Given the description of an element on the screen output the (x, y) to click on. 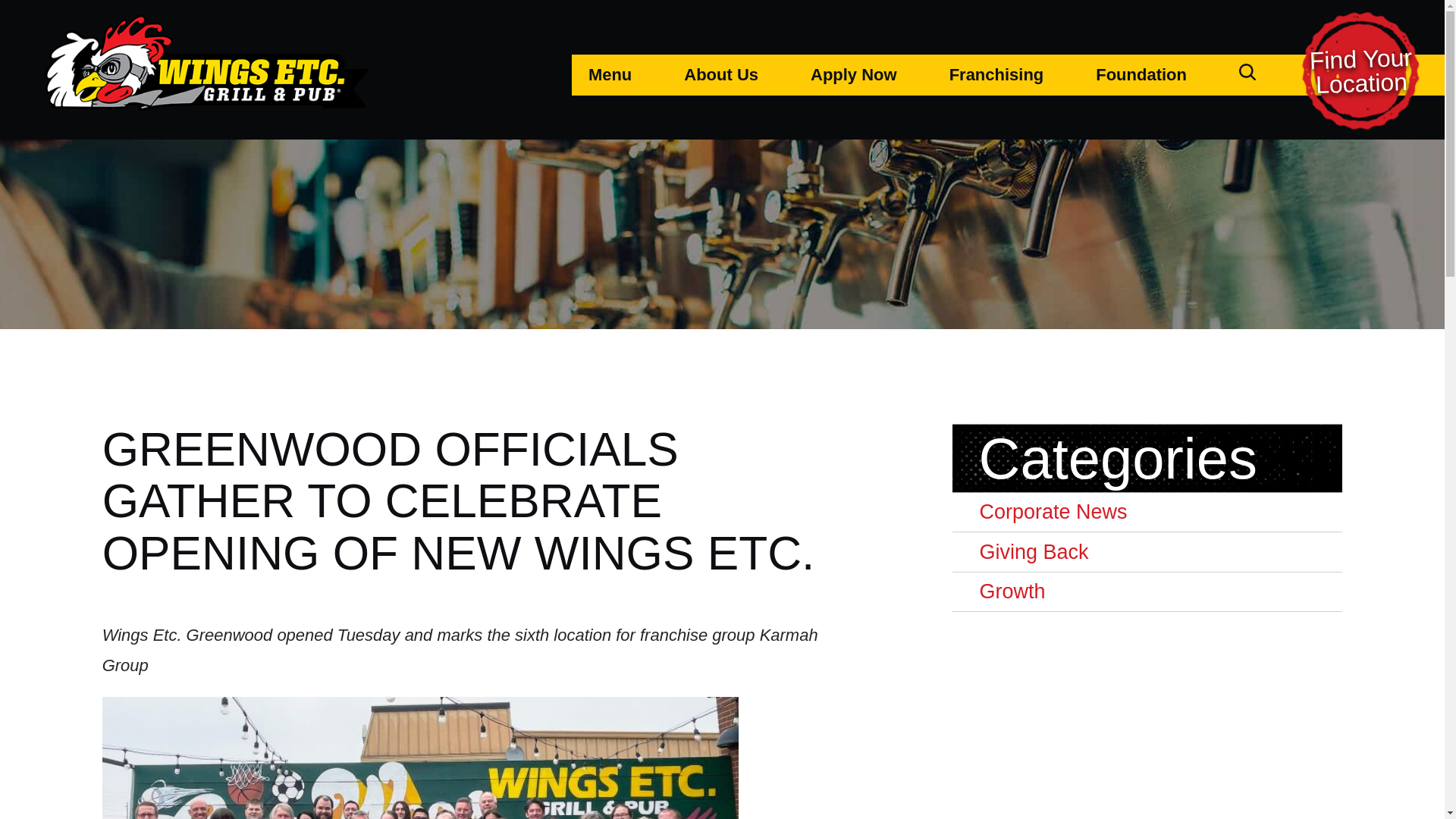
Foundation (1141, 74)
Site Search (1247, 74)
Corporate News (1147, 512)
Growth (1147, 591)
Giving Back (1147, 551)
Site Search (1247, 71)
Apply Now (853, 74)
Menu (609, 74)
Find Your Location (1366, 70)
Franchising (997, 74)
Wings Etc. (206, 62)
About Us (720, 74)
